Given the description of an element on the screen output the (x, y) to click on. 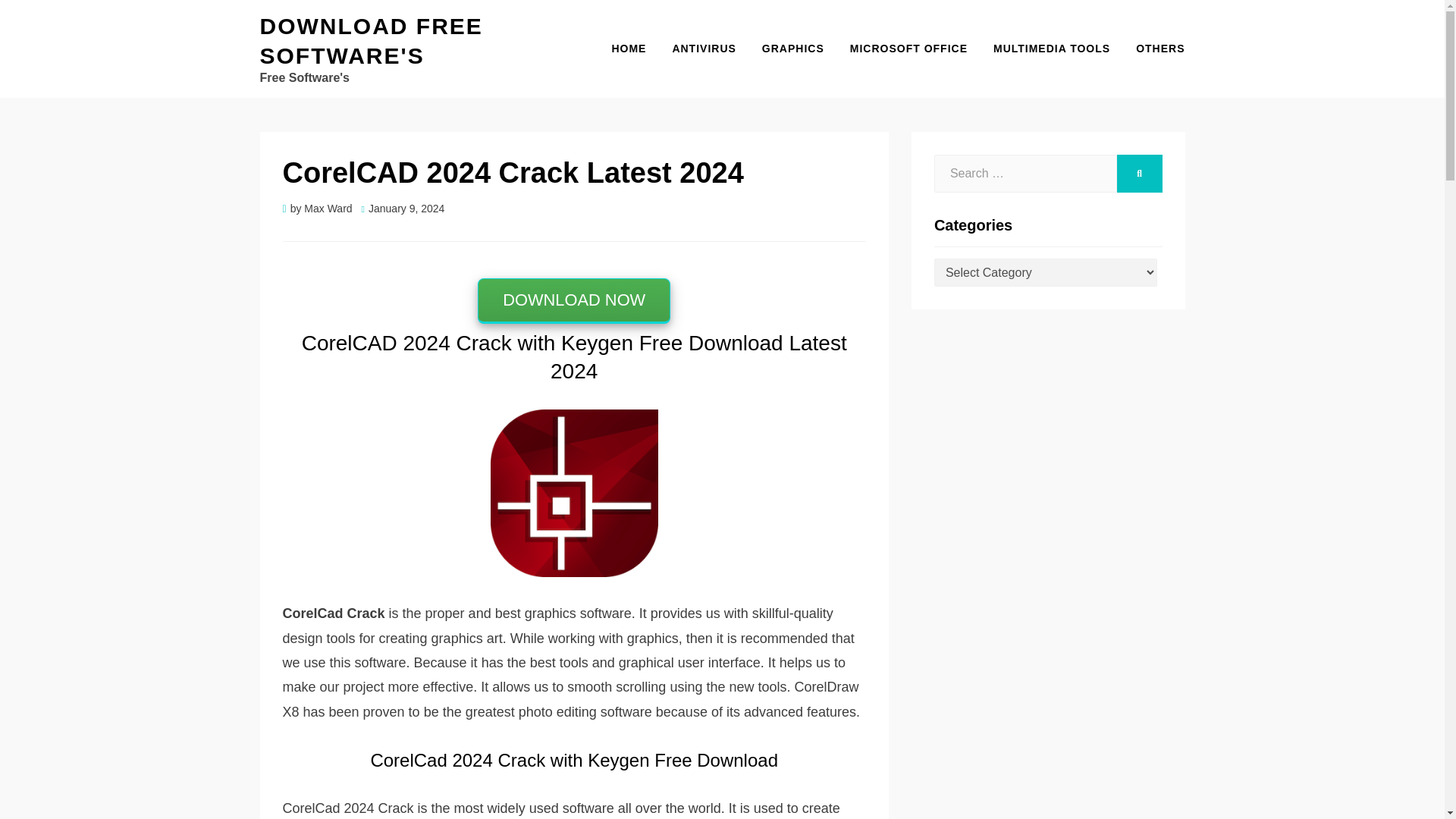
ANTIVIRUS (703, 48)
DOWNLOAD NOW (573, 300)
MULTIMEDIA TOOLS (1050, 48)
Download Free Software's (370, 40)
Max Ward (328, 208)
HOME (628, 48)
DOWNLOAD NOW (573, 300)
GRAPHICS (793, 48)
January 9, 2024 (403, 208)
OTHERS (1153, 48)
